Given the description of an element on the screen output the (x, y) to click on. 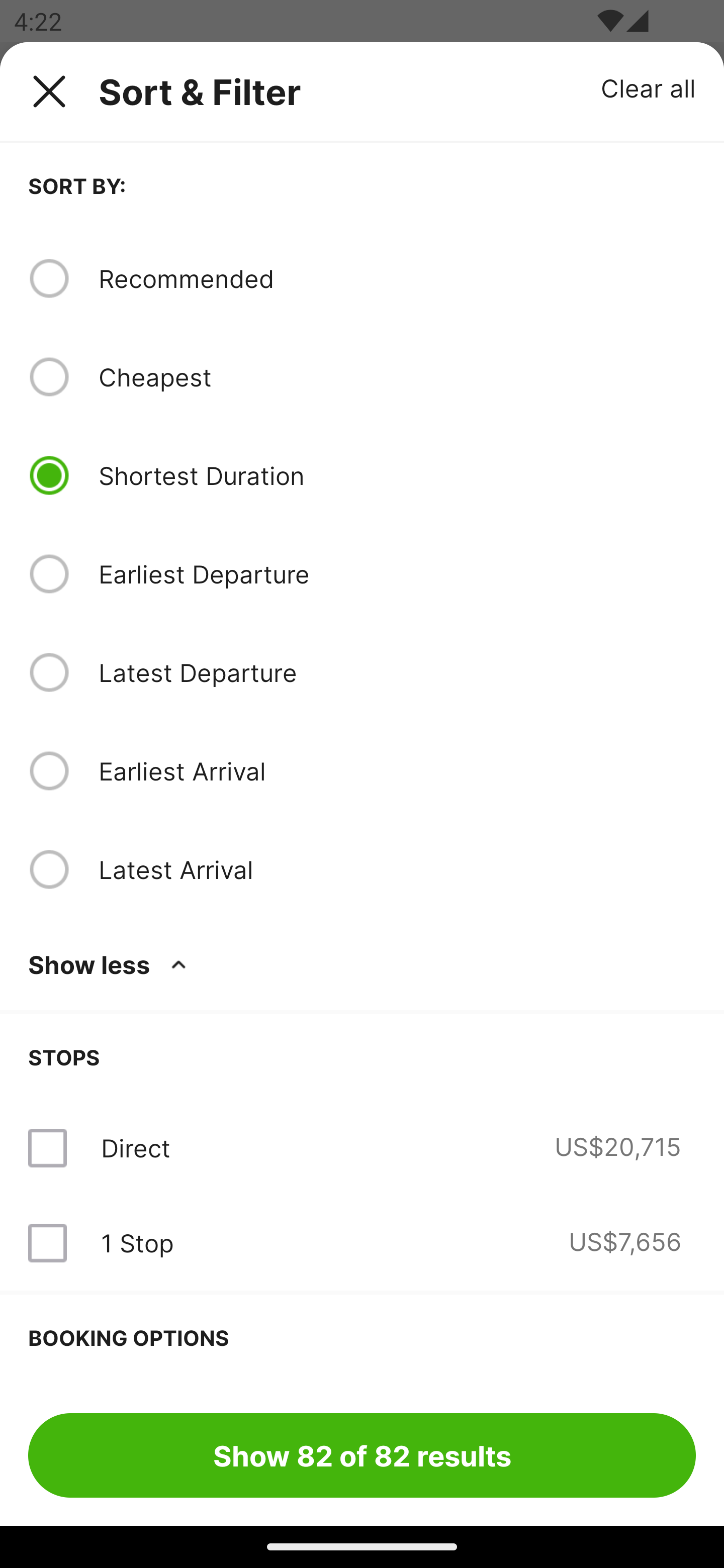
Clear all (648, 87)
Recommended  (396, 278)
Cheapest (396, 377)
Shortest Duration (396, 474)
Earliest Departure (396, 573)
Latest Departure (396, 672)
Earliest Arrival (396, 770)
Latest Arrival (396, 869)
Show less (110, 964)
Direct US$20,715 (362, 1147)
Direct (135, 1147)
1 Stop US$7,656 (362, 1242)
1 Stop (136, 1242)
Show 82 of 82 results (361, 1454)
